Given the description of an element on the screen output the (x, y) to click on. 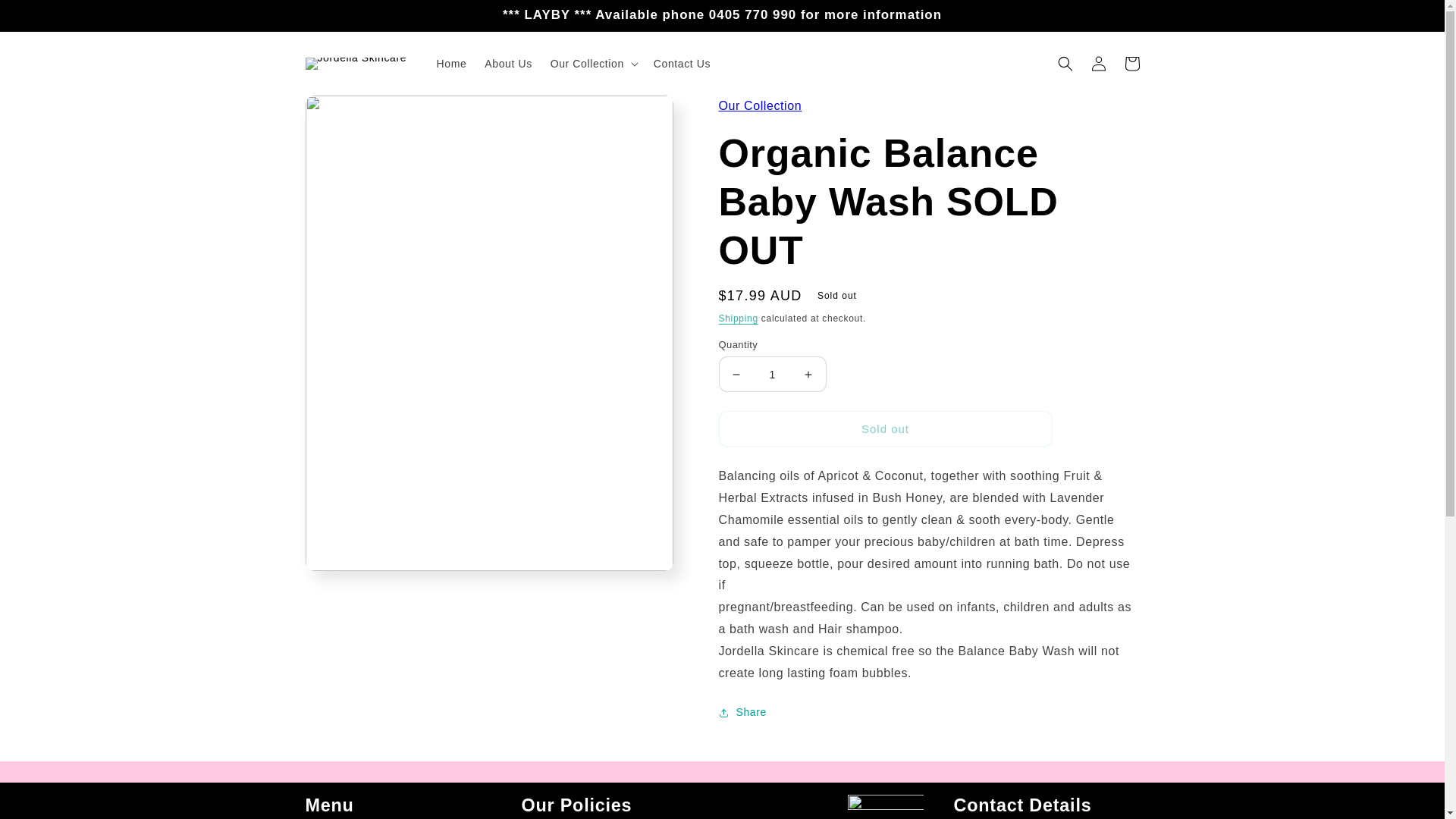
Cart (1131, 63)
Skip to product information (350, 112)
Our Collection (760, 105)
Shipping (738, 317)
Log in (1098, 63)
About Us (508, 63)
Our Collection (760, 105)
1 (773, 374)
Home (452, 63)
Contact Us (682, 63)
Skip to content (45, 17)
